Given the description of an element on the screen output the (x, y) to click on. 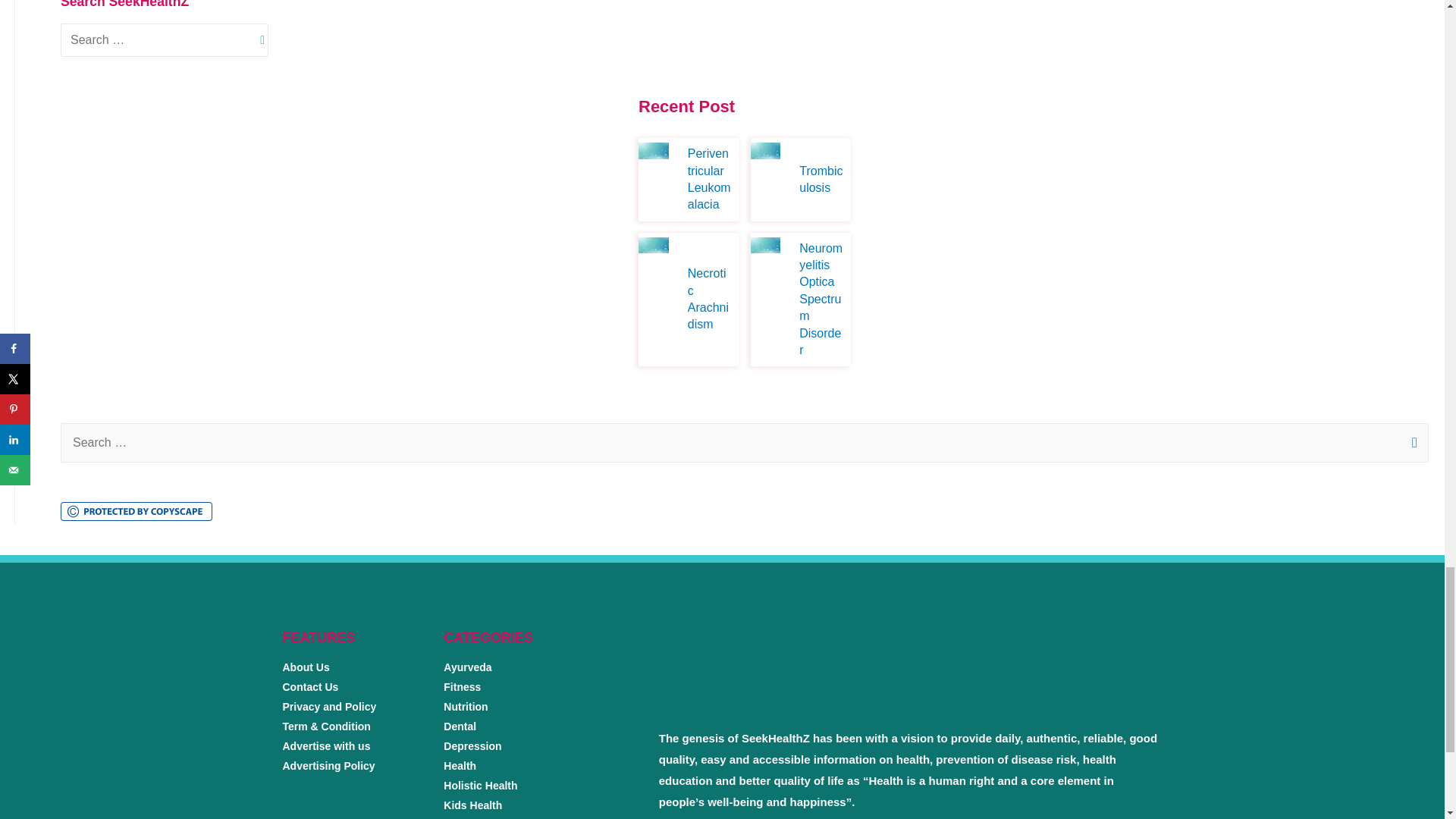
Protected by Copyscape - Do not copy content from this page. (136, 511)
